Given the description of an element on the screen output the (x, y) to click on. 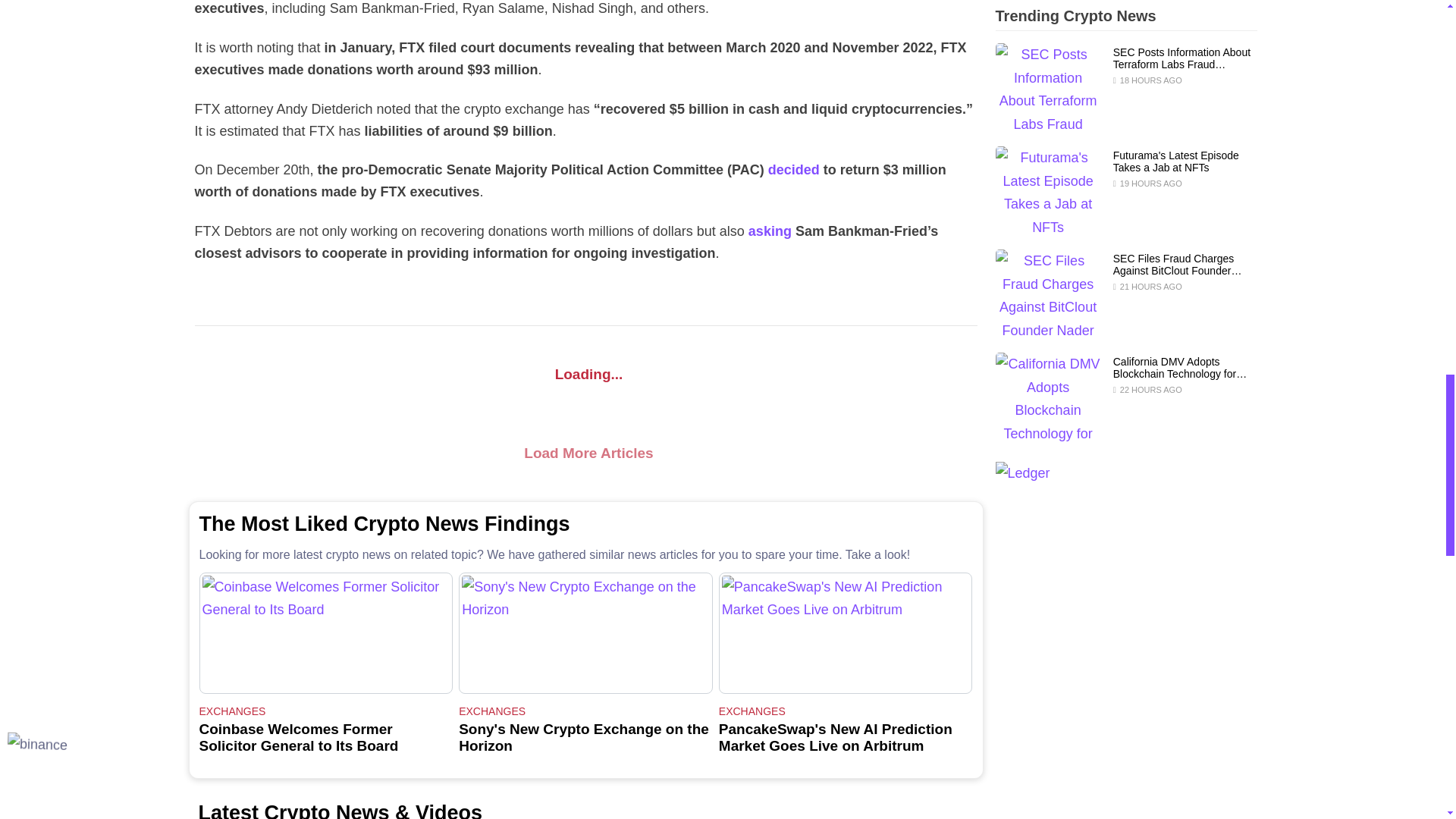
Loading... (585, 374)
Load More Articles (584, 454)
asking (770, 231)
decided (793, 169)
Sony's New Crypto Exchange on the Horizon (585, 632)
PancakeSwap's New AI Prediction Market Goes Live on Arbitrum (845, 632)
Coinbase Welcomes Former Solicitor General to Its Board (325, 632)
